Given the description of an element on the screen output the (x, y) to click on. 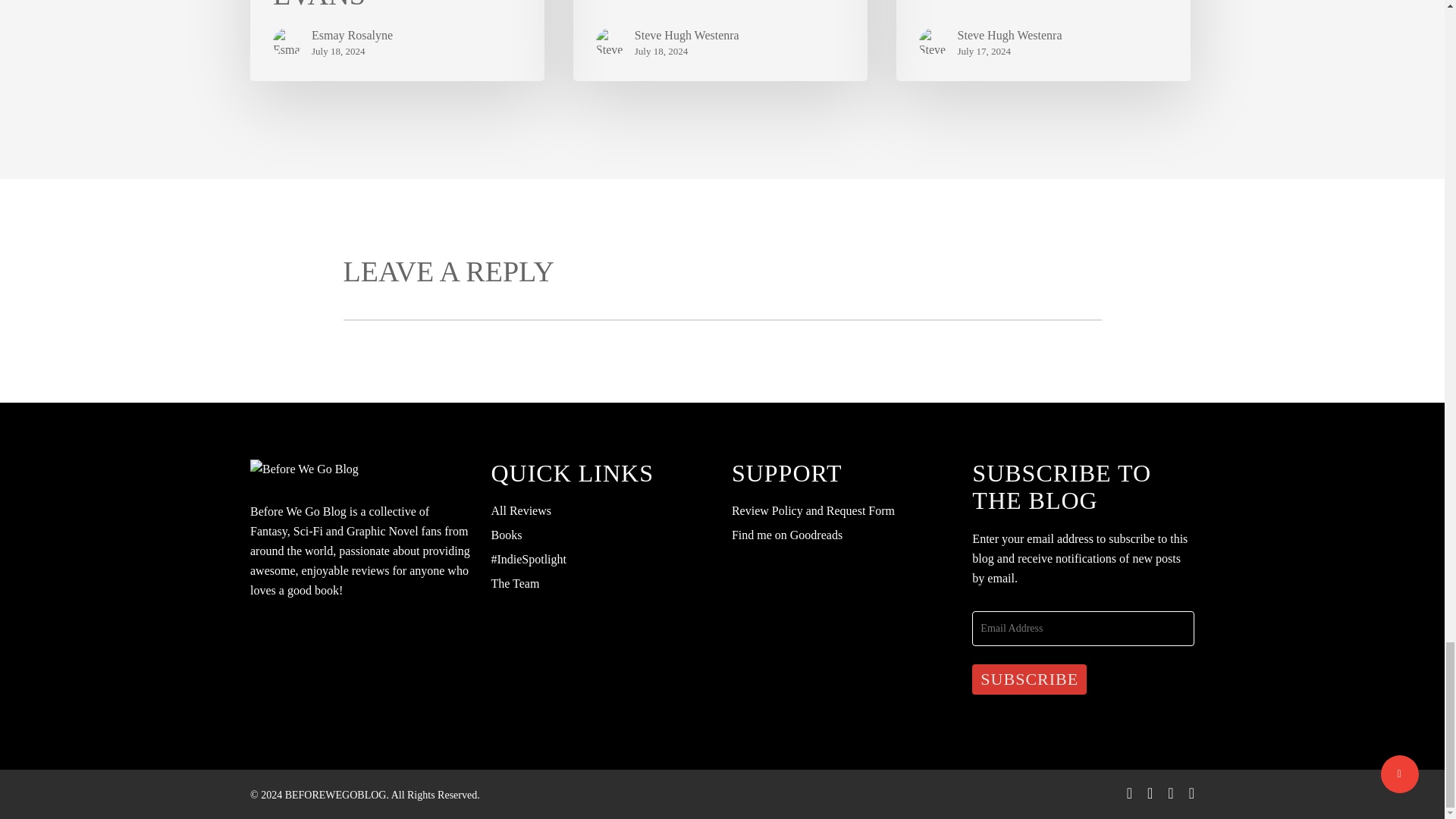
Esmay Rosalyne (352, 35)
Subscribe (1029, 679)
